Given the description of an element on the screen output the (x, y) to click on. 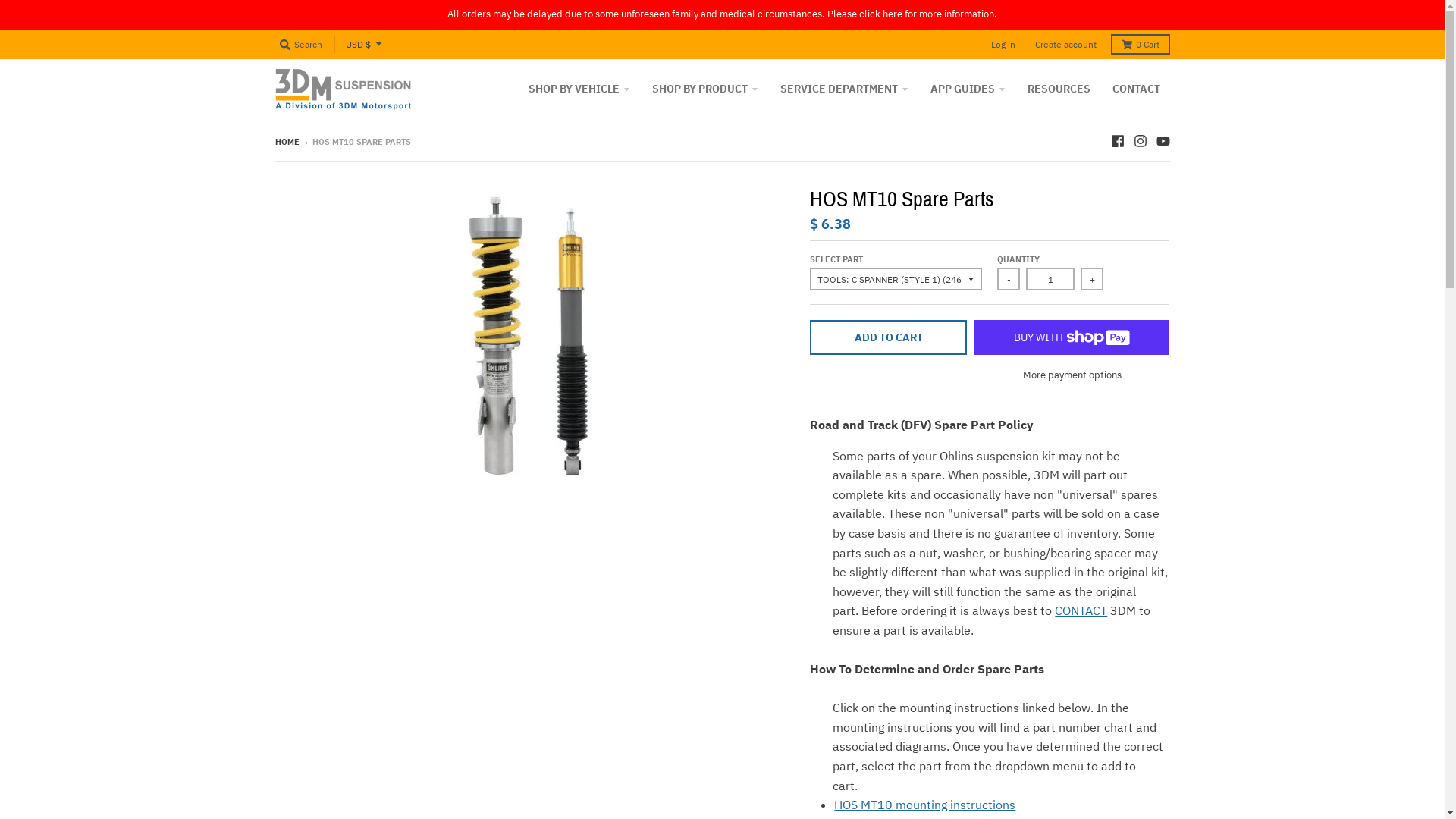
SHOP BY VEHICLE Element type: text (579, 88)
HOS MT10 mounting instructions Element type: text (924, 804)
CONTACT Element type: text (1080, 610)
More payment options Element type: text (1071, 375)
SHOP BY PRODUCT Element type: text (704, 88)
YouTube - 3DM Suspension Element type: hover (1162, 140)
- Element type: text (1008, 278)
Instagram - 3DM Suspension Element type: hover (1139, 140)
RESOURCES Element type: text (1058, 88)
ADD TO CART Element type: text (887, 337)
SERVICE DEPARTMENT Element type: text (844, 88)
Search Element type: text (300, 44)
CONTACT Element type: text (1136, 88)
0 Cart Element type: text (1139, 44)
USD $ Element type: text (363, 44)
Log in Element type: text (1002, 44)
+ Element type: text (1091, 278)
APP GUIDES Element type: text (967, 88)
Facebook - 3DM Suspension Element type: hover (1116, 140)
Create account Element type: text (1064, 44)
HOME Element type: text (286, 141)
